Given the description of an element on the screen output the (x, y) to click on. 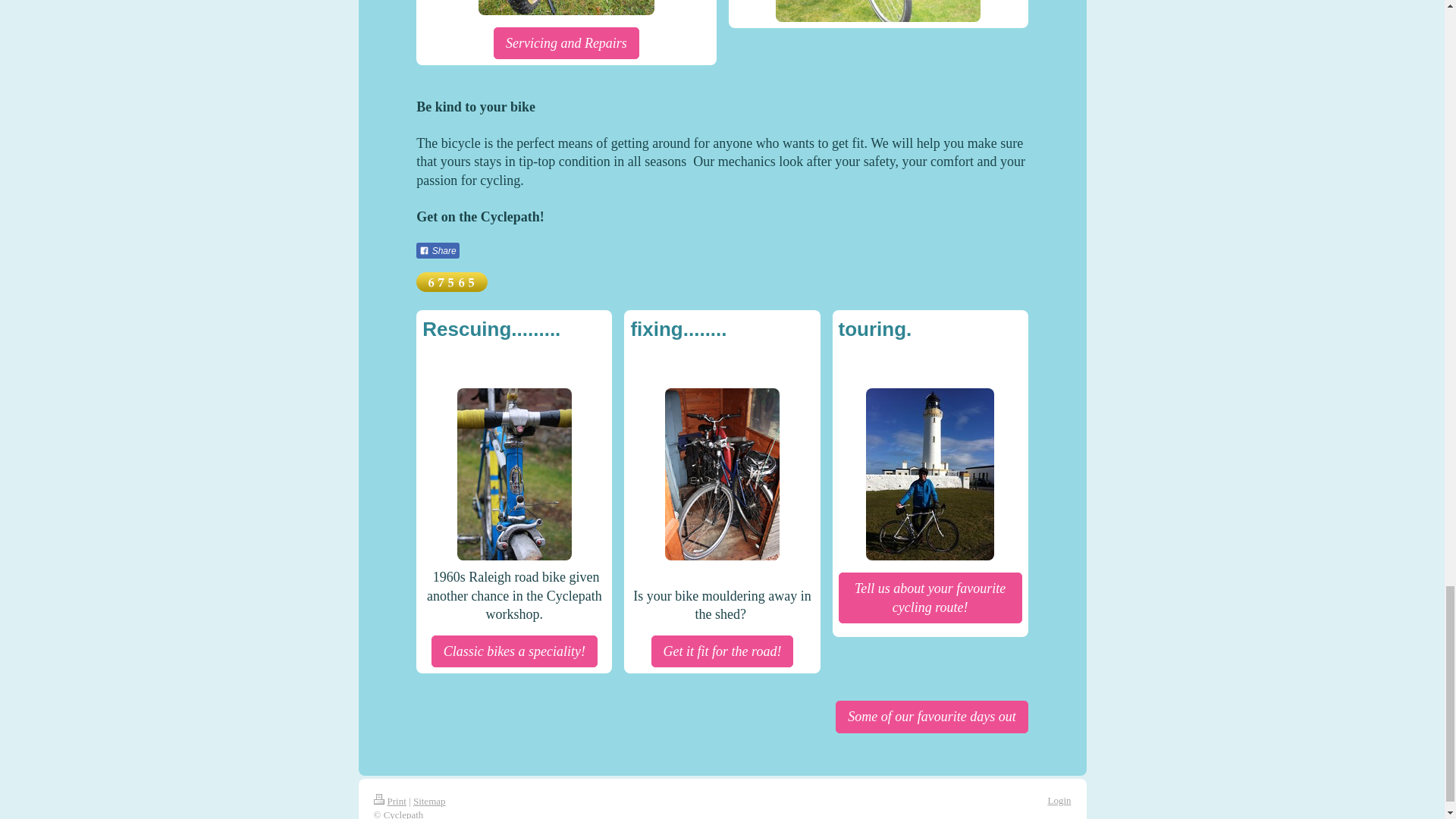
Share (437, 249)
Get it fit for the road! (721, 651)
Tell us about your favourite cycling route! (930, 597)
Classic bikes a speciality! (513, 651)
Servicing and Repairs (566, 42)
